Given the description of an element on the screen output the (x, y) to click on. 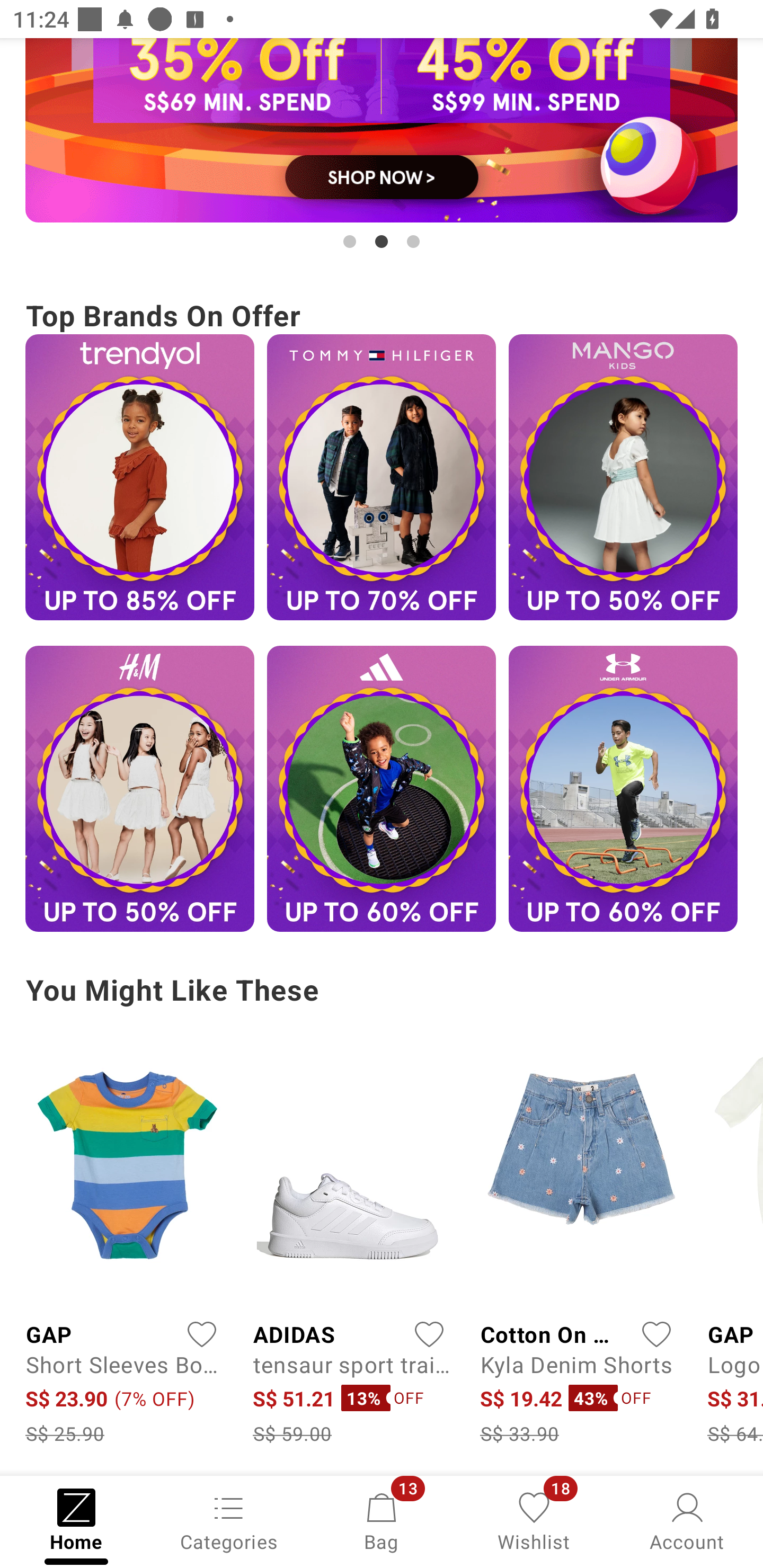
Campaign banner (381, 129)
Campaign banner (139, 476)
Campaign banner (381, 476)
Campaign banner (622, 476)
Campaign banner (139, 788)
Campaign banner (381, 788)
Campaign banner (622, 788)
Categories (228, 1519)
Bag, 13 new notifications Bag (381, 1519)
Wishlist, 18 new notifications Wishlist (533, 1519)
Account (686, 1519)
